Given the description of an element on the screen output the (x, y) to click on. 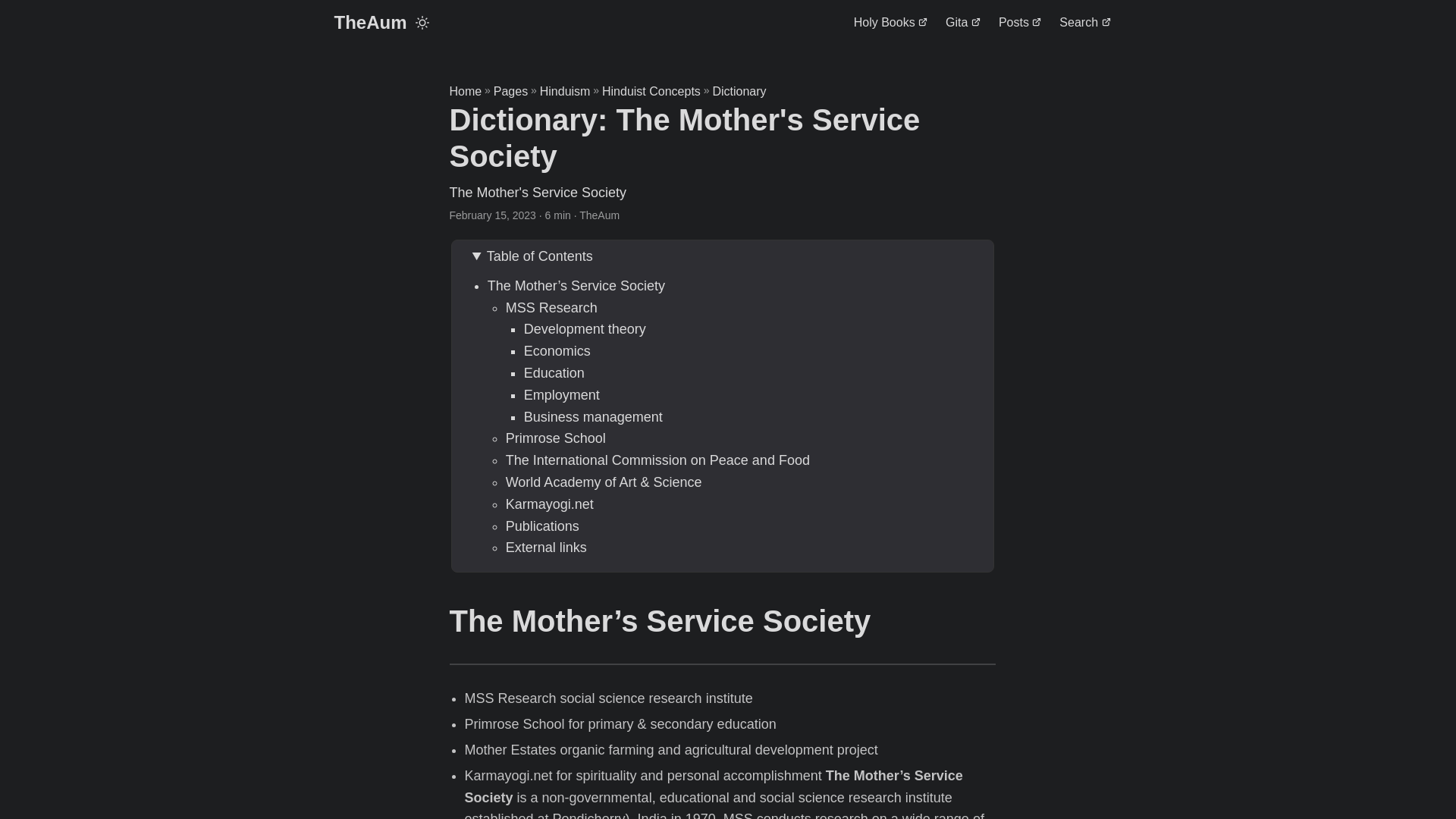
Karmayogi.net (549, 503)
Dictionary (738, 91)
Primrose School (555, 437)
Education (554, 372)
Hinduist Concepts (651, 91)
Economics (557, 350)
MSS Research (550, 307)
Publications (542, 525)
Holy Books  (890, 22)
Search  (1084, 22)
TheAum (369, 22)
Hinduism (565, 91)
Employment (561, 394)
Business management (593, 417)
Posts  (1019, 22)
